Given the description of an element on the screen output the (x, y) to click on. 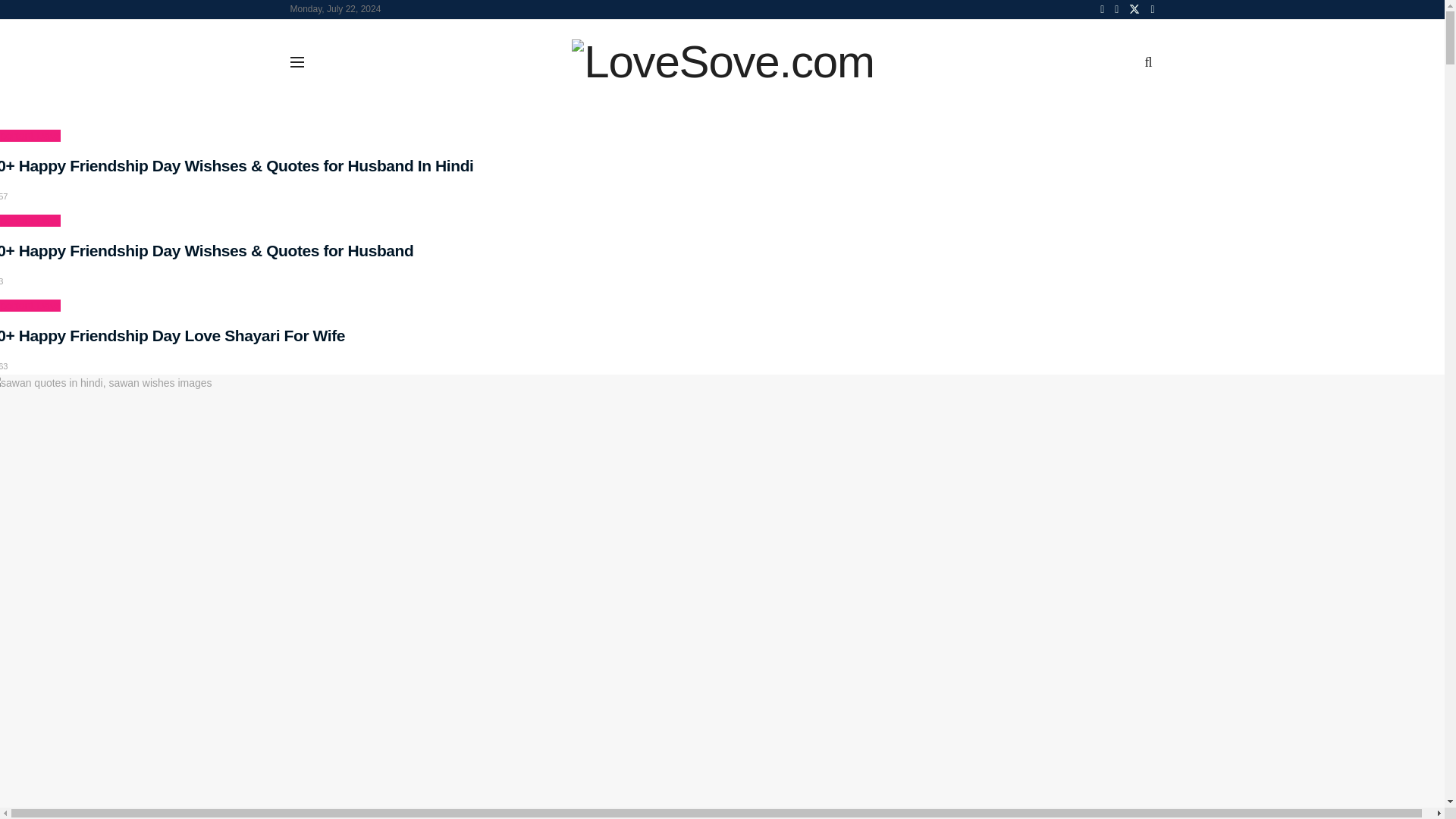
Important Days (30, 220)
263 (3, 366)
257 (3, 195)
Important Days (30, 305)
Important Days (30, 135)
LoveSove.com (723, 62)
